Given the description of an element on the screen output the (x, y) to click on. 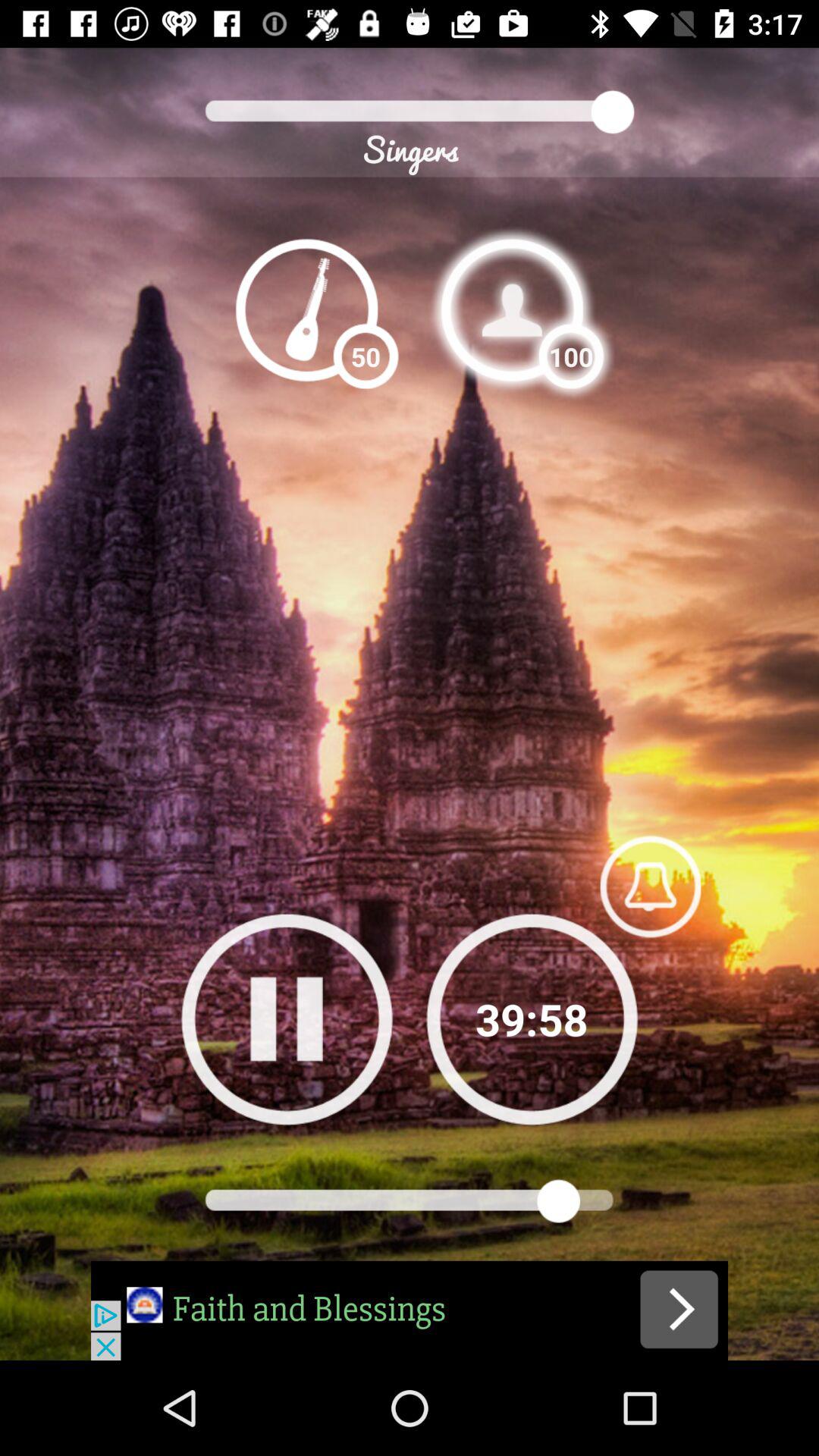
open advertisement (409, 1310)
